Given the description of an element on the screen output the (x, y) to click on. 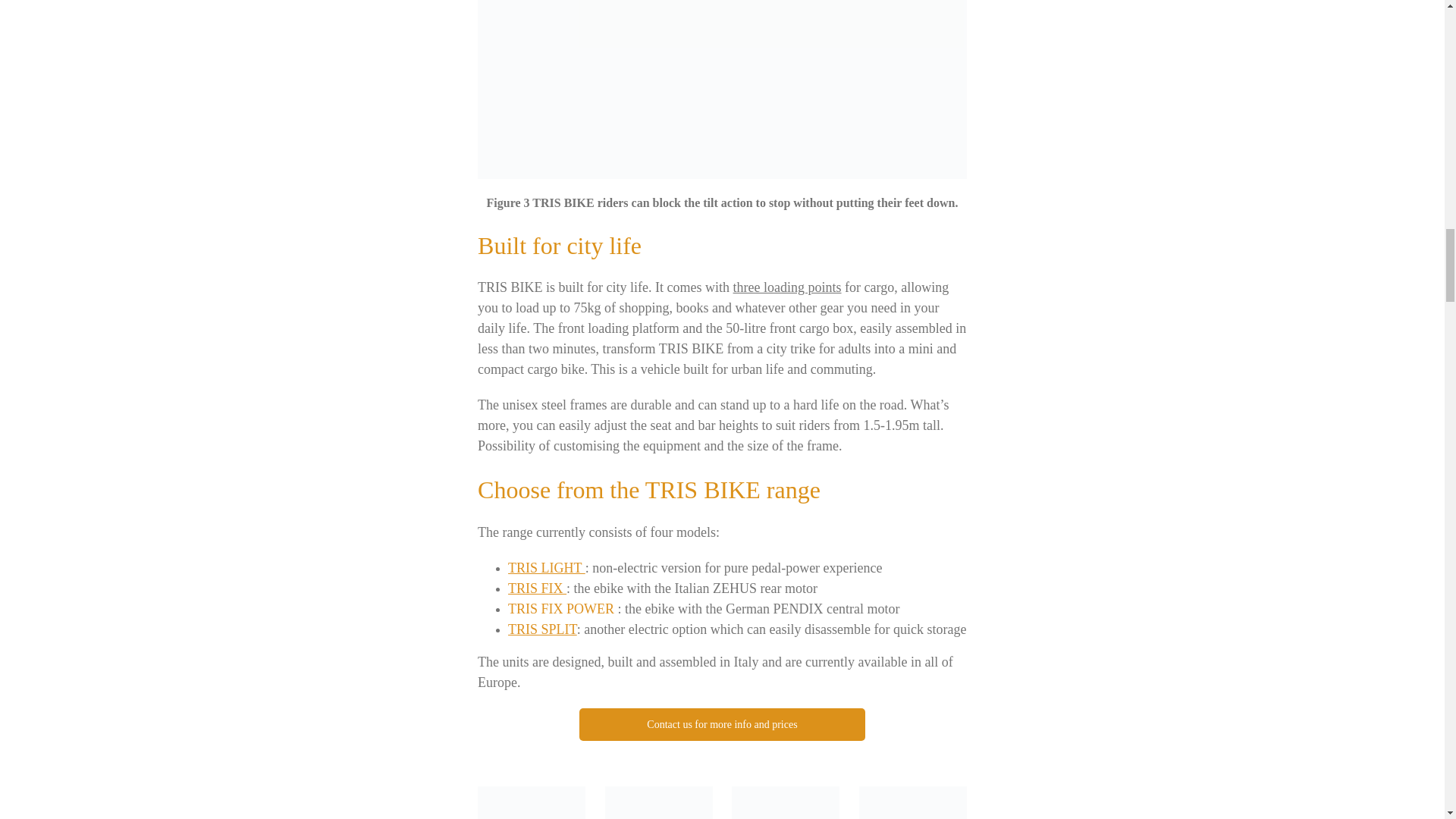
TRIS FIX tilting electric trike (659, 802)
Contact us for more info and prices (721, 747)
Contact us for more info and prices (721, 724)
TRIS LIGHT (546, 567)
three loading points (721, 802)
TRIS FIX (787, 287)
TRIS SPLIT (537, 588)
